Given the description of an element on the screen output the (x, y) to click on. 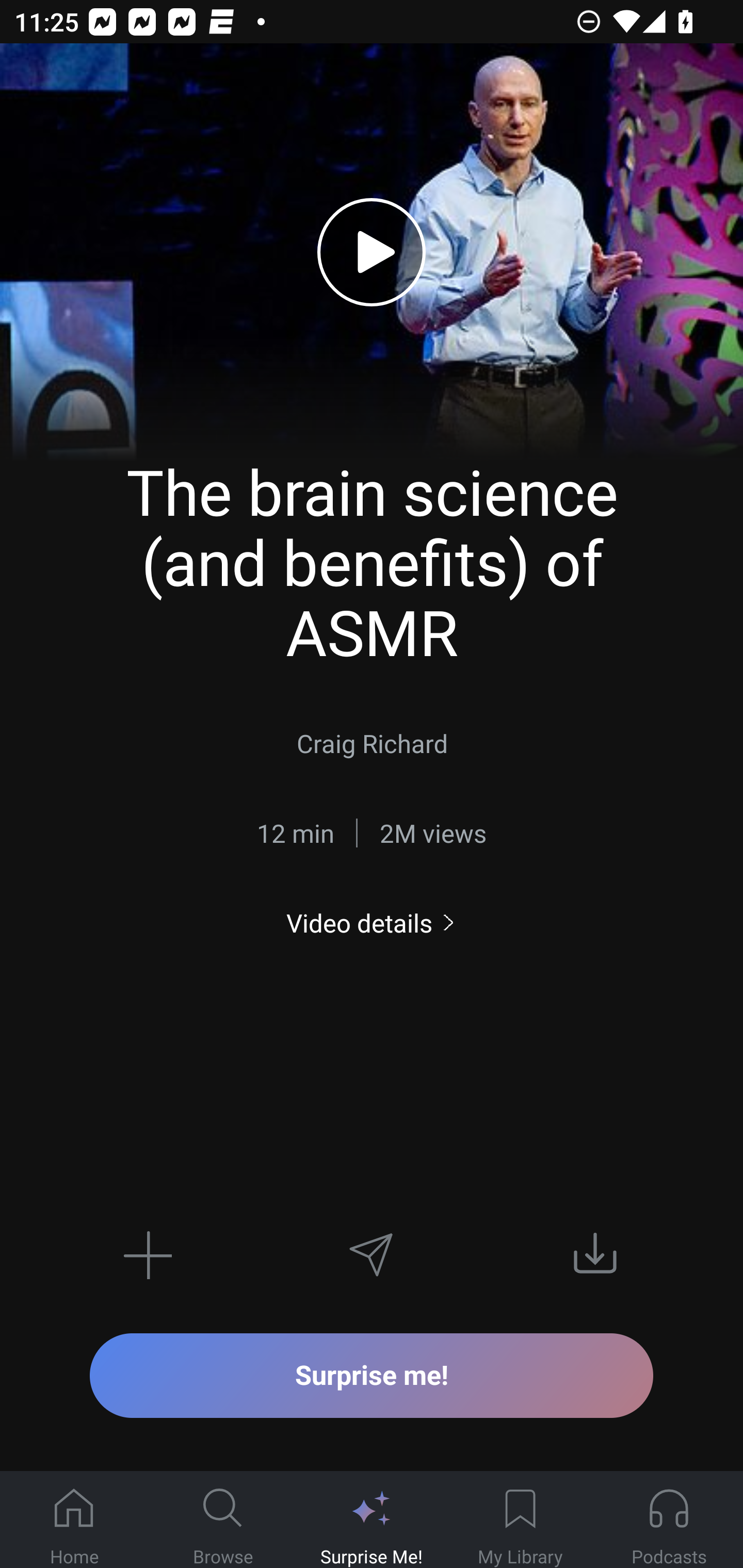
Video details (371, 922)
Surprise me! (371, 1374)
Home (74, 1520)
Browse (222, 1520)
Surprise Me! (371, 1520)
My Library (519, 1520)
Podcasts (668, 1520)
